Given the description of an element on the screen output the (x, y) to click on. 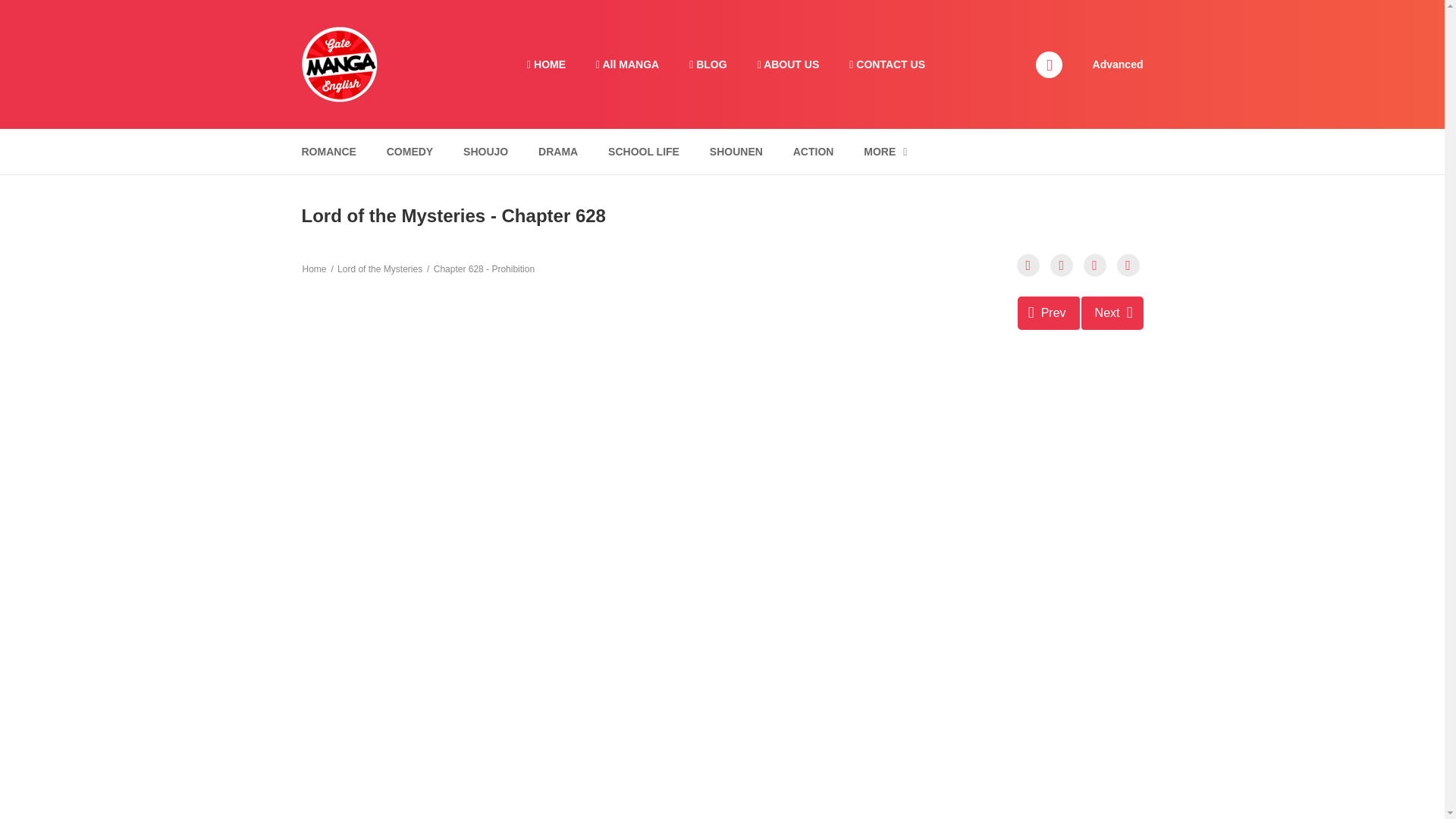
CONTACT US (887, 64)
Bookmark (1094, 264)
SHOUJO (485, 151)
ABOUT US (788, 64)
Gate Manga (339, 63)
HOME (546, 64)
All MANGA (627, 64)
Advanced (1117, 63)
BLOG (707, 64)
ACTION (813, 151)
SCHOOL LIFE (643, 151)
DRAMA (558, 151)
ROMANCE (328, 151)
MORE (885, 151)
SHOUNEN (736, 151)
